Given the description of an element on the screen output the (x, y) to click on. 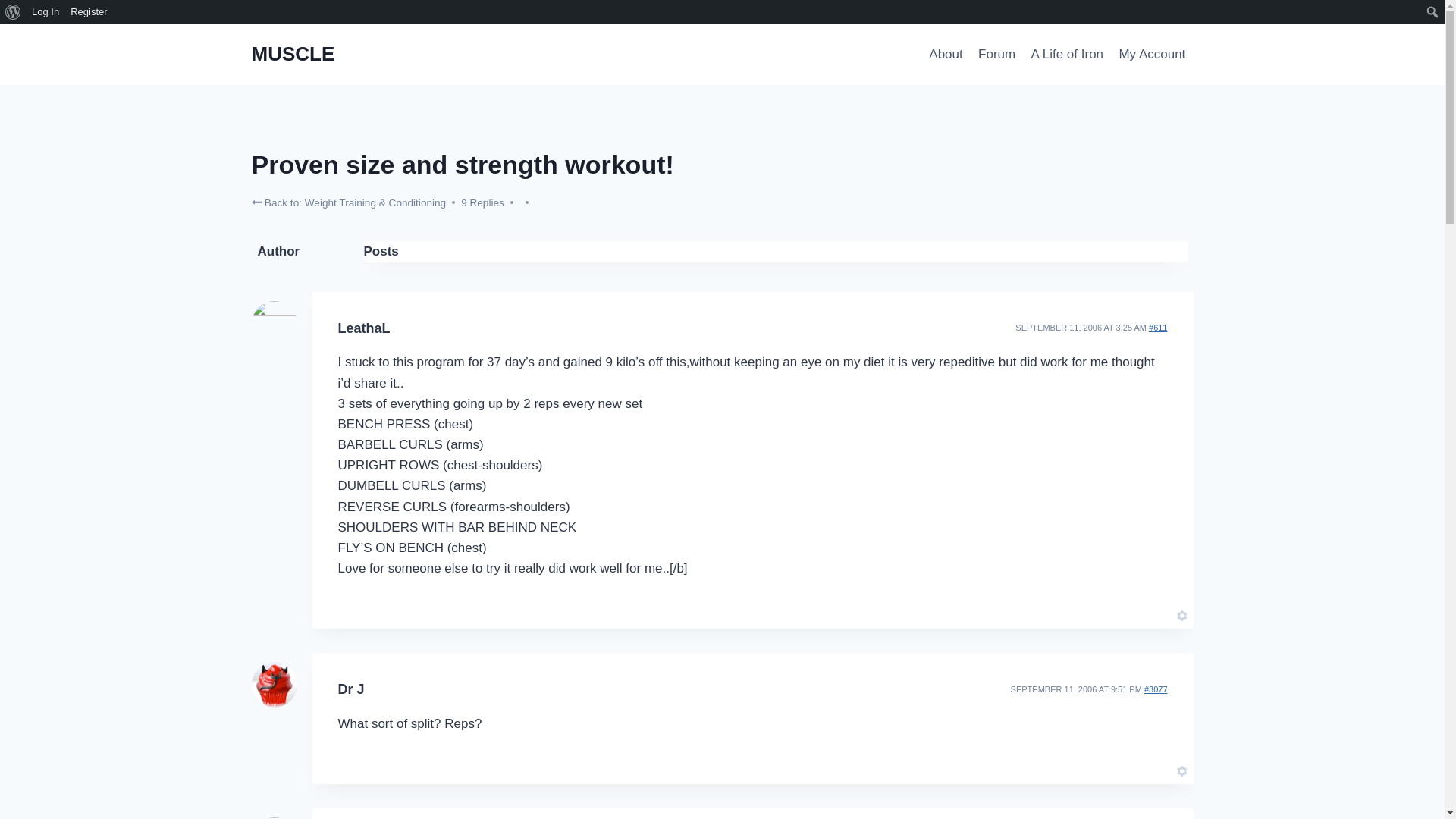
View Dr J's profile (351, 688)
Forum (997, 54)
LeathaL (363, 328)
Reply To: Proven size and strength workout! (1155, 688)
View LeathaL's profile (363, 328)
A Life of Iron (1066, 54)
MUSCLE (292, 54)
Register (89, 12)
My Account (1151, 54)
About (946, 54)
